Given the description of an element on the screen output the (x, y) to click on. 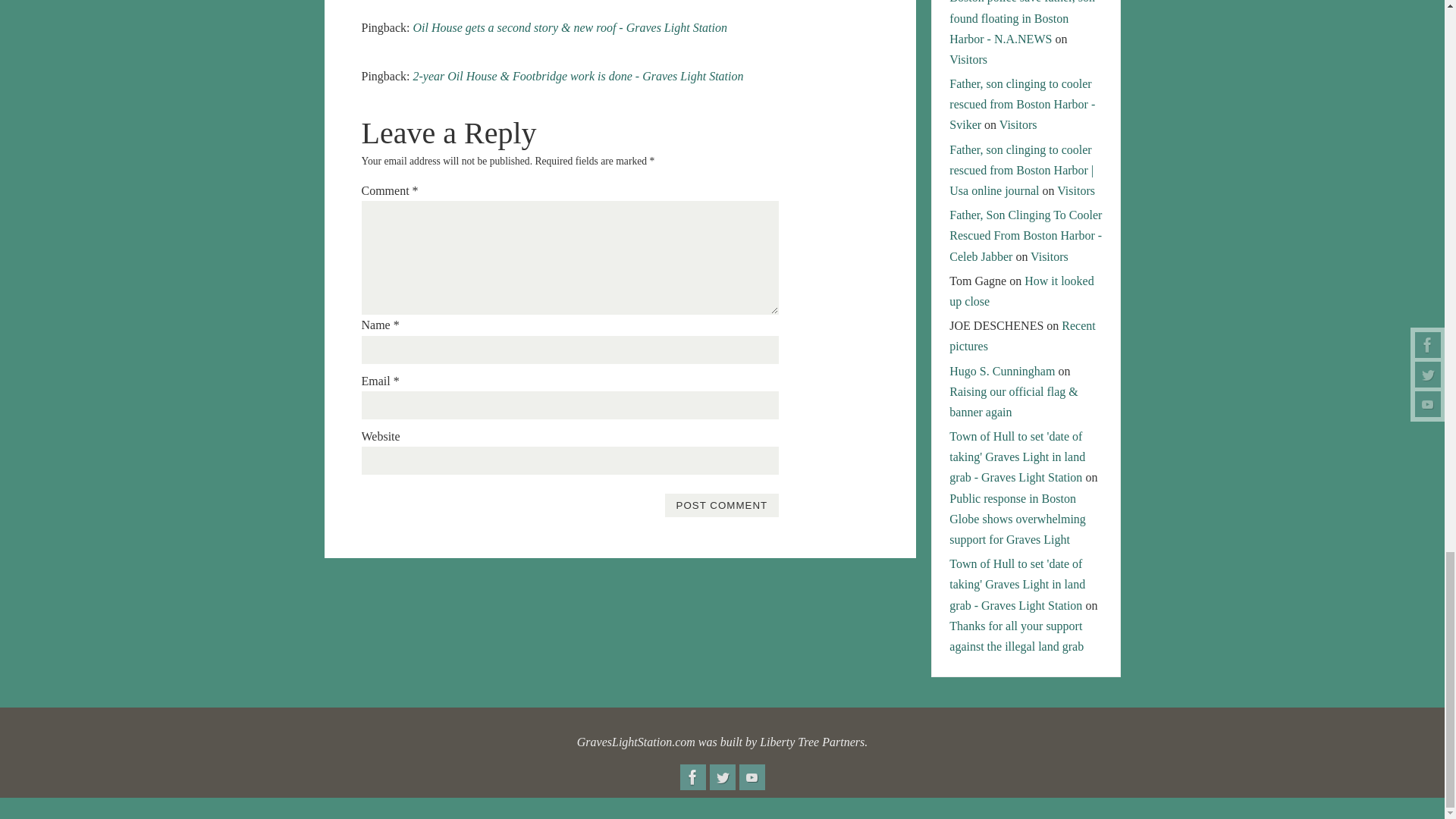
Post Comment (721, 504)
